Given the description of an element on the screen output the (x, y) to click on. 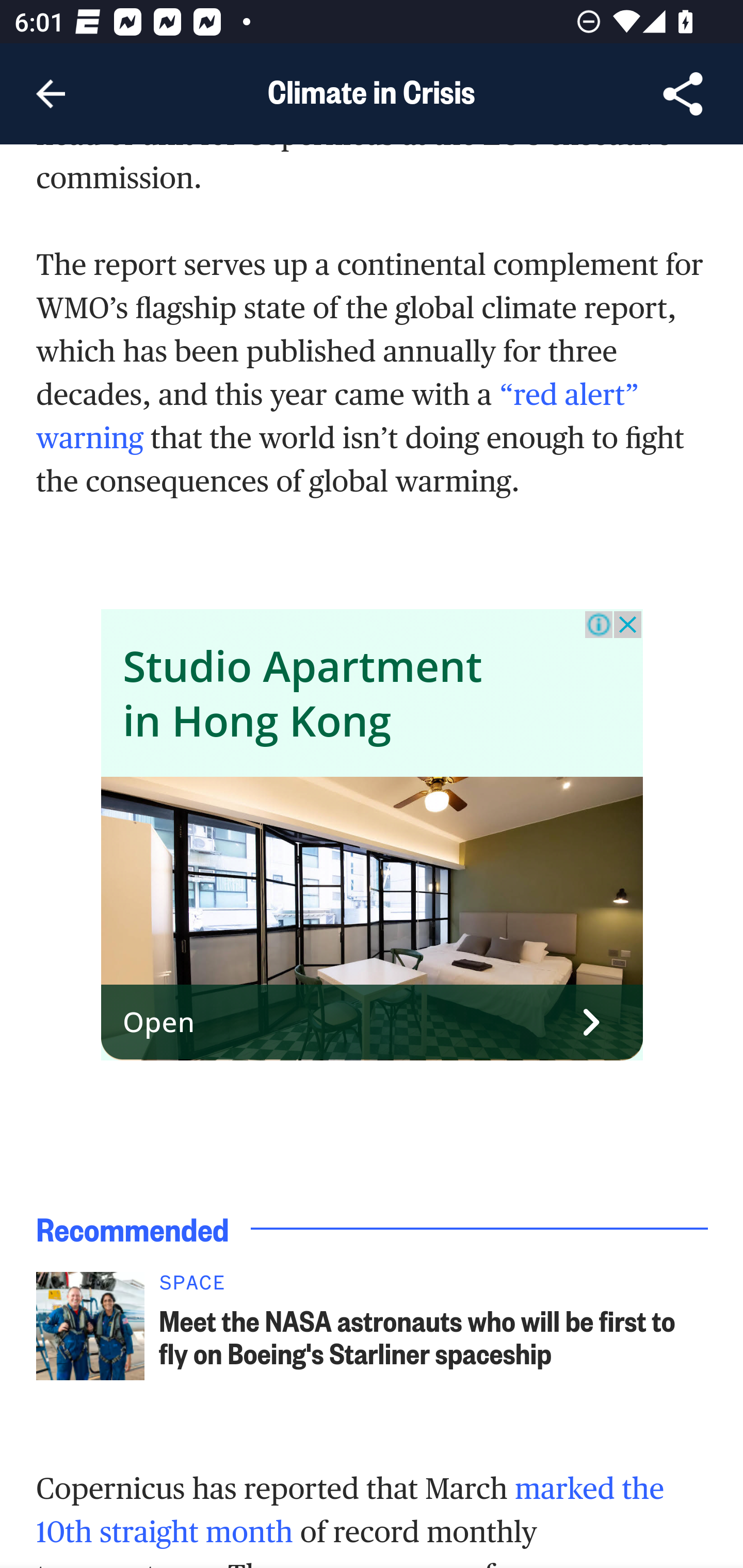
Navigate up (50, 93)
Share Article, button (683, 94)
“red alert” warning (338, 416)
apartments-inner2 (372, 919)
Open (372, 1023)
SPACE (434, 1289)
marked the 10th straight month (351, 1510)
